Given the description of an element on the screen output the (x, y) to click on. 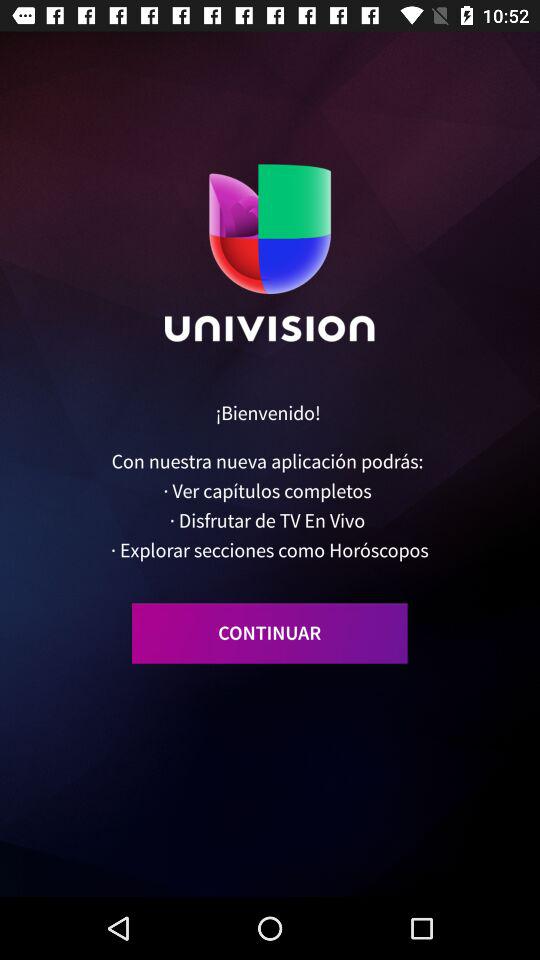
tap the icon below con nuestra nueva icon (269, 633)
